Given the description of an element on the screen output the (x, y) to click on. 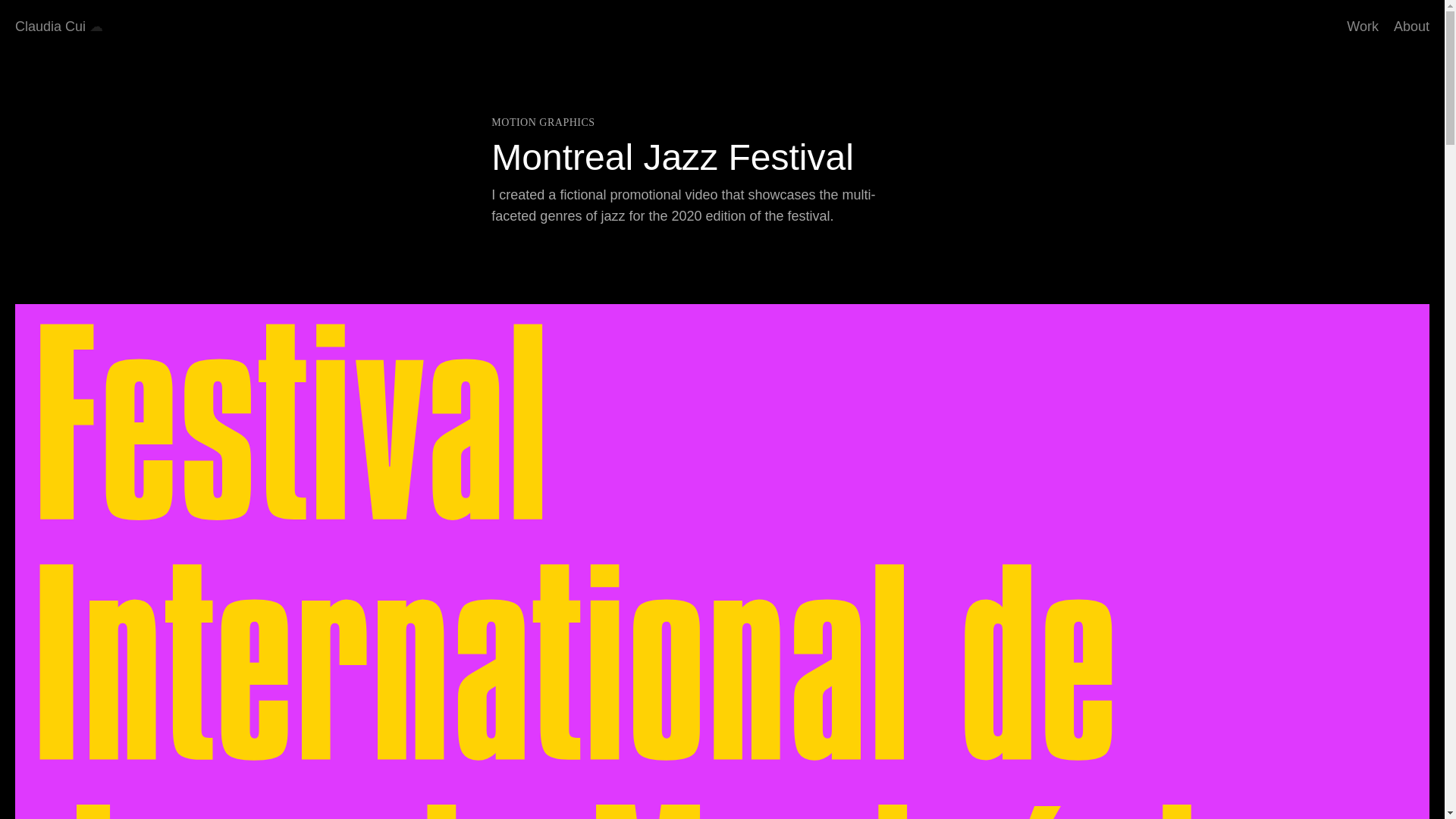
Work (1362, 26)
About (1411, 26)
Claudia Cui (49, 26)
